Given the description of an element on the screen output the (x, y) to click on. 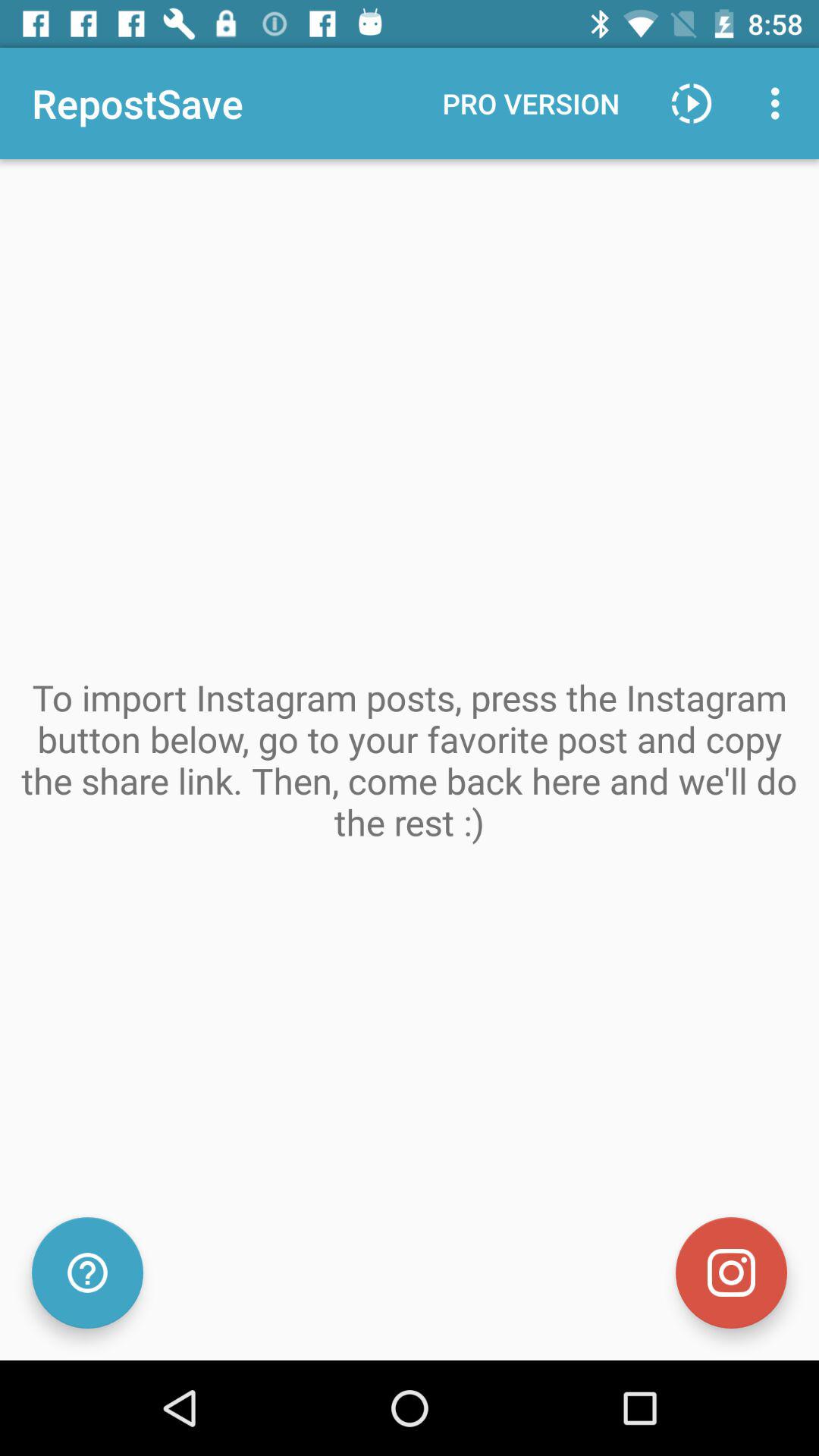
get information (87, 1272)
